Given the description of an element on the screen output the (x, y) to click on. 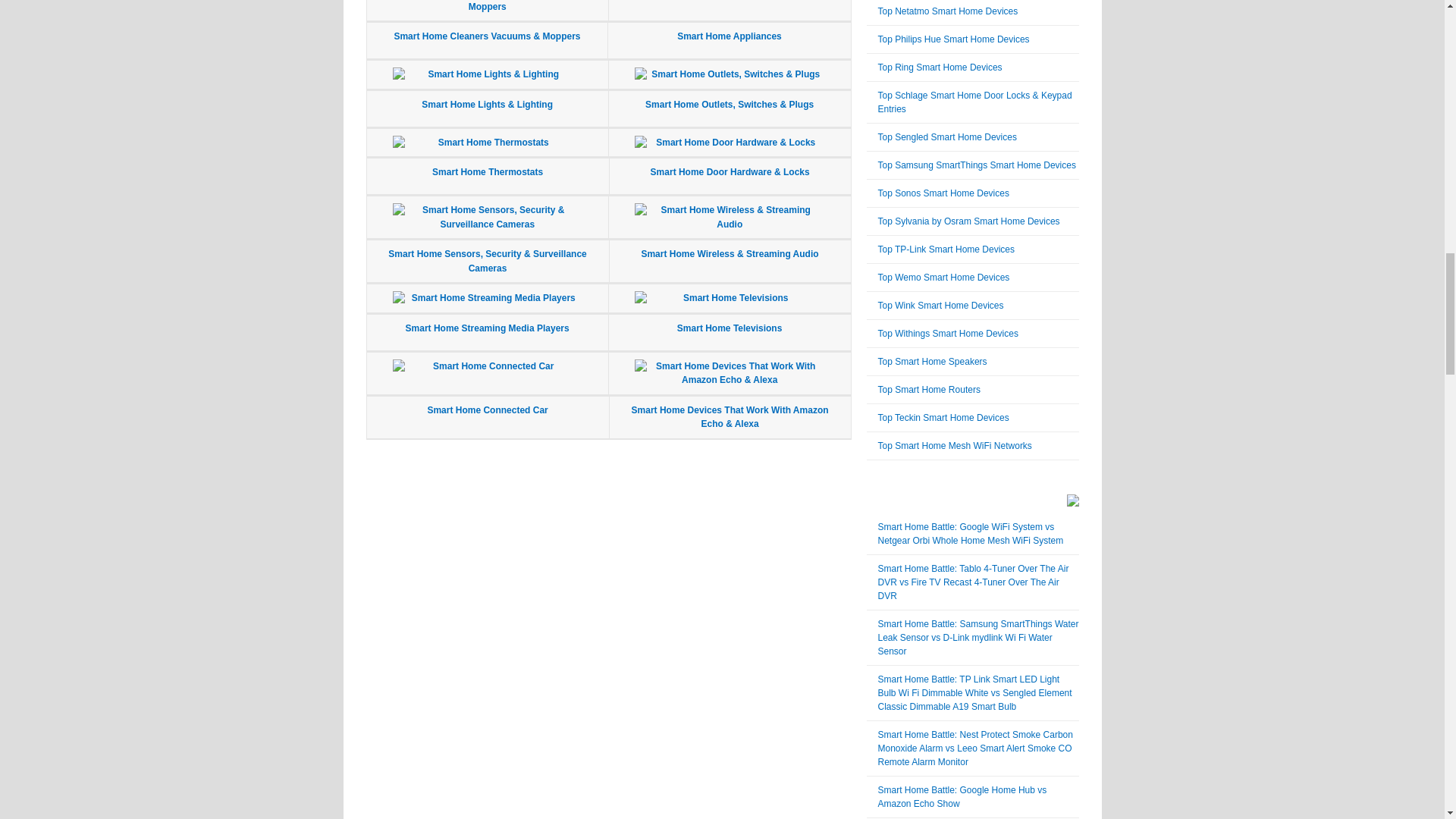
Smart Home Appliances (729, 36)
Smart Home Connected Car (486, 409)
Smart Home Televisions (730, 327)
Smart Home Thermostats (487, 172)
Smart Home Streaming Media Players (487, 327)
